Given the description of an element on the screen output the (x, y) to click on. 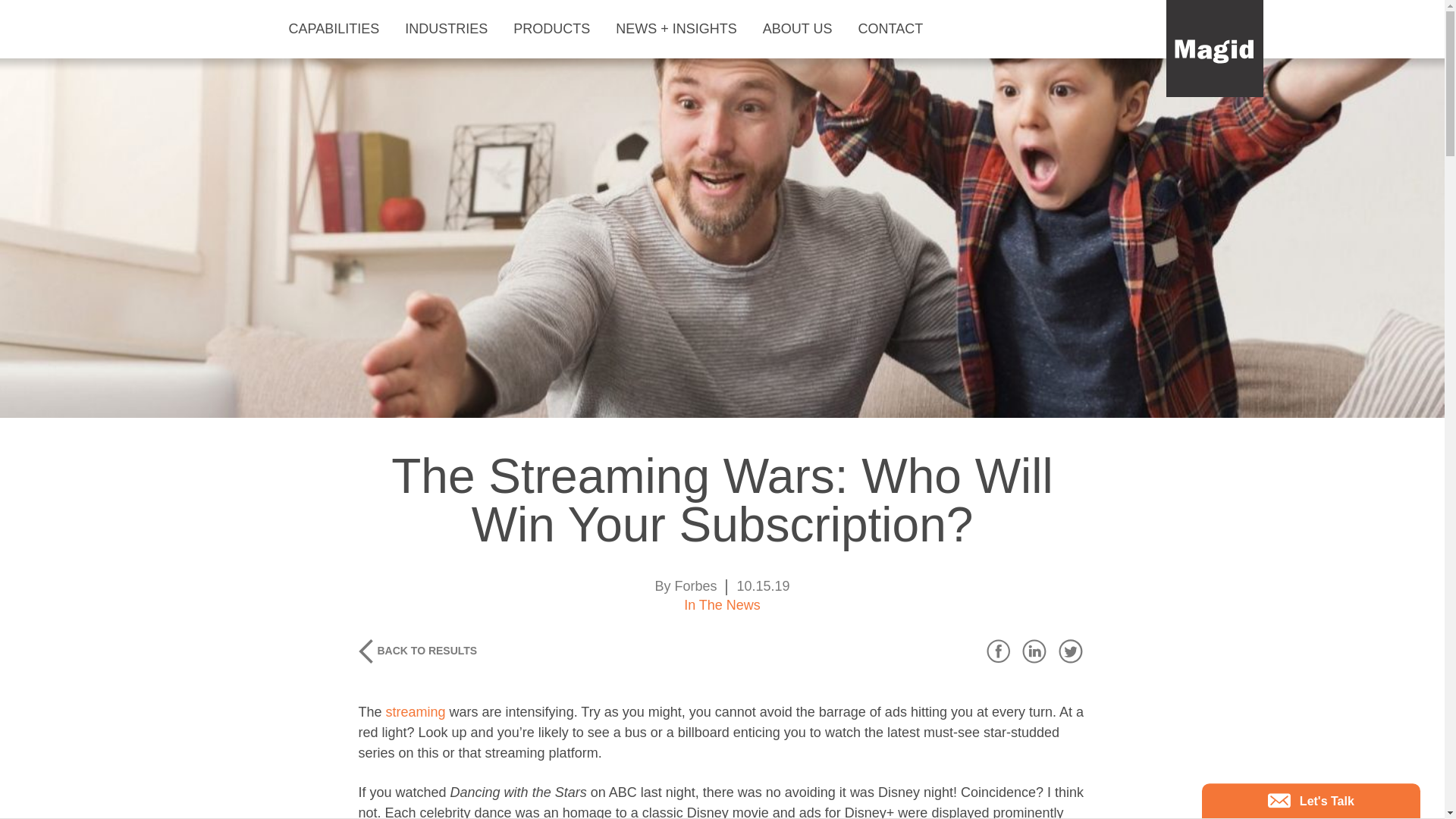
PRODUCTS (557, 29)
Magid (1214, 48)
CONTACT (895, 29)
ABOUT US (802, 29)
CAPABILITIES (338, 29)
INDUSTRIES (451, 29)
streaming (415, 711)
Envelope Iconsmall picture of an envelope signifying email (1279, 800)
